Given the description of an element on the screen output the (x, y) to click on. 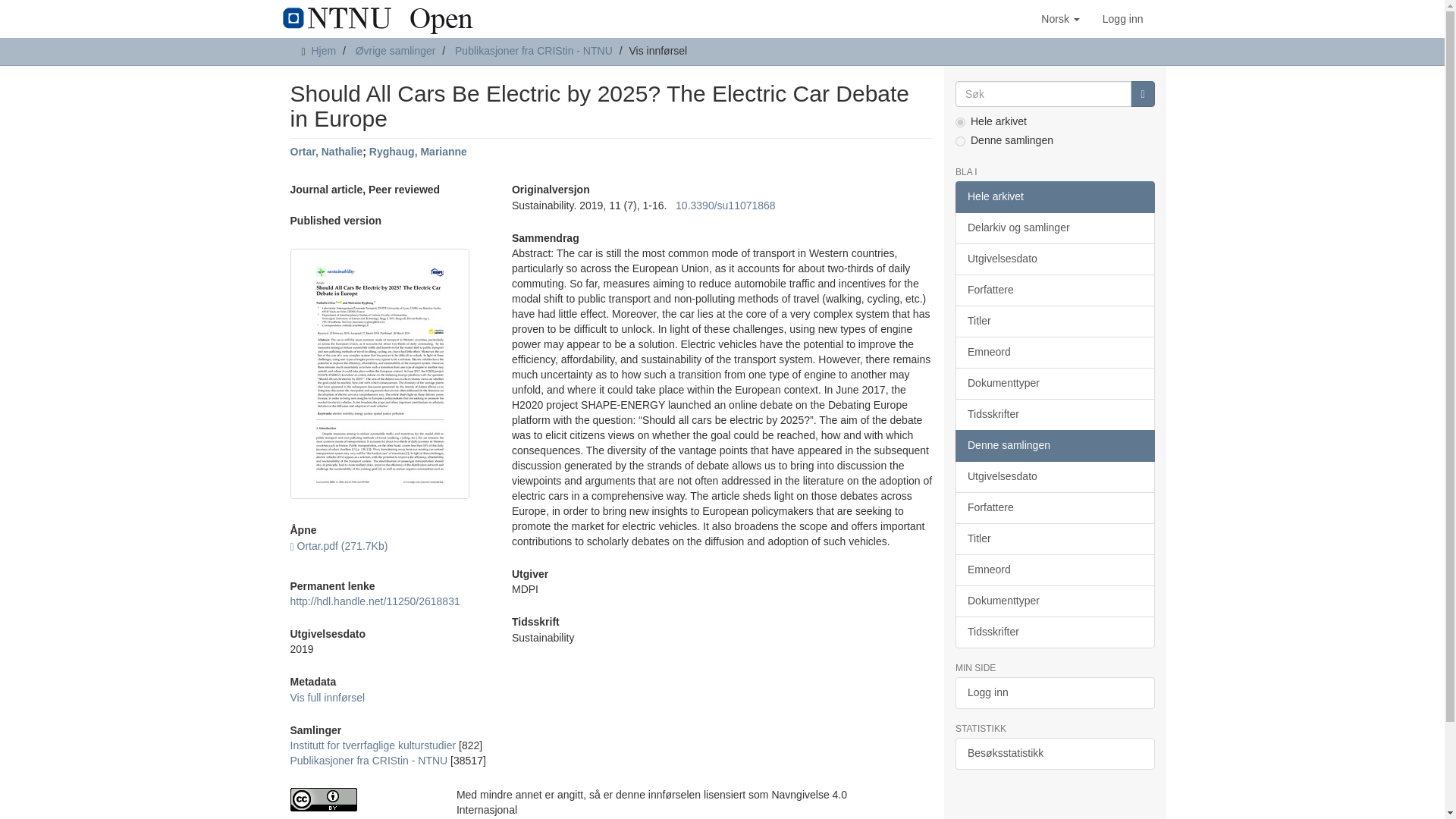
Delarkiv og samlinger (1054, 228)
Logg inn (1122, 18)
Publikasjoner fra CRIStin - NTNU (367, 760)
Norsk  (1059, 18)
Ryghaug, Marianne (418, 151)
Utgivelsesdato (1054, 259)
Institutt for tverrfaglige kulturstudier (372, 745)
Publikasjoner fra CRIStin - NTNU (533, 50)
Hjem (323, 50)
Navngivelse 4.0 Internasjonal (360, 799)
